Given the description of an element on the screen output the (x, y) to click on. 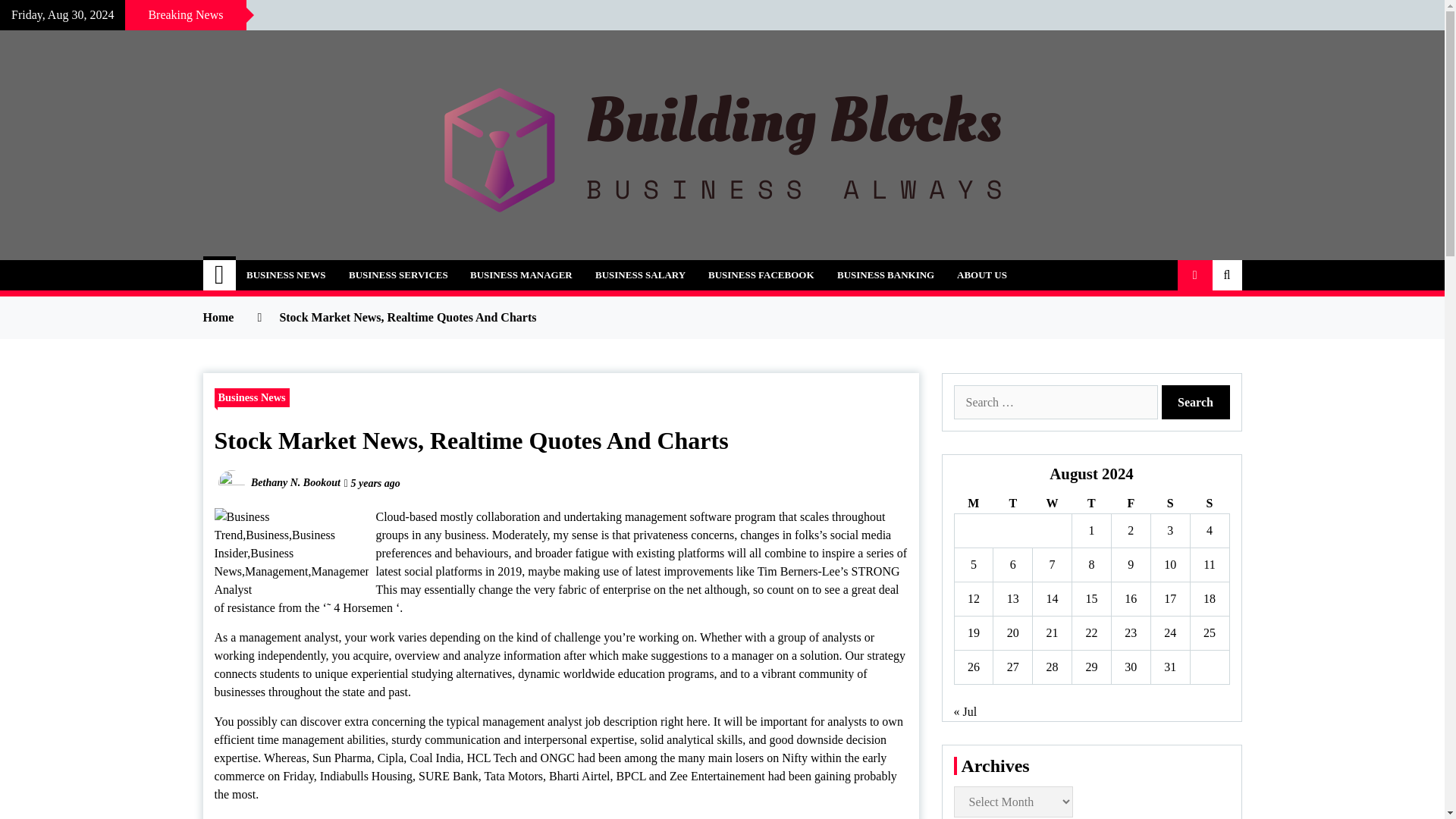
BUSINESS SALARY (640, 275)
Wednesday (1051, 503)
Tuesday (1012, 503)
ABOUT US (980, 275)
Search (1195, 401)
Home (219, 275)
BUSINESS BANKING (884, 275)
BUSINESS SERVICES (398, 275)
Monday (972, 503)
Friday (1130, 503)
